Given the description of an element on the screen output the (x, y) to click on. 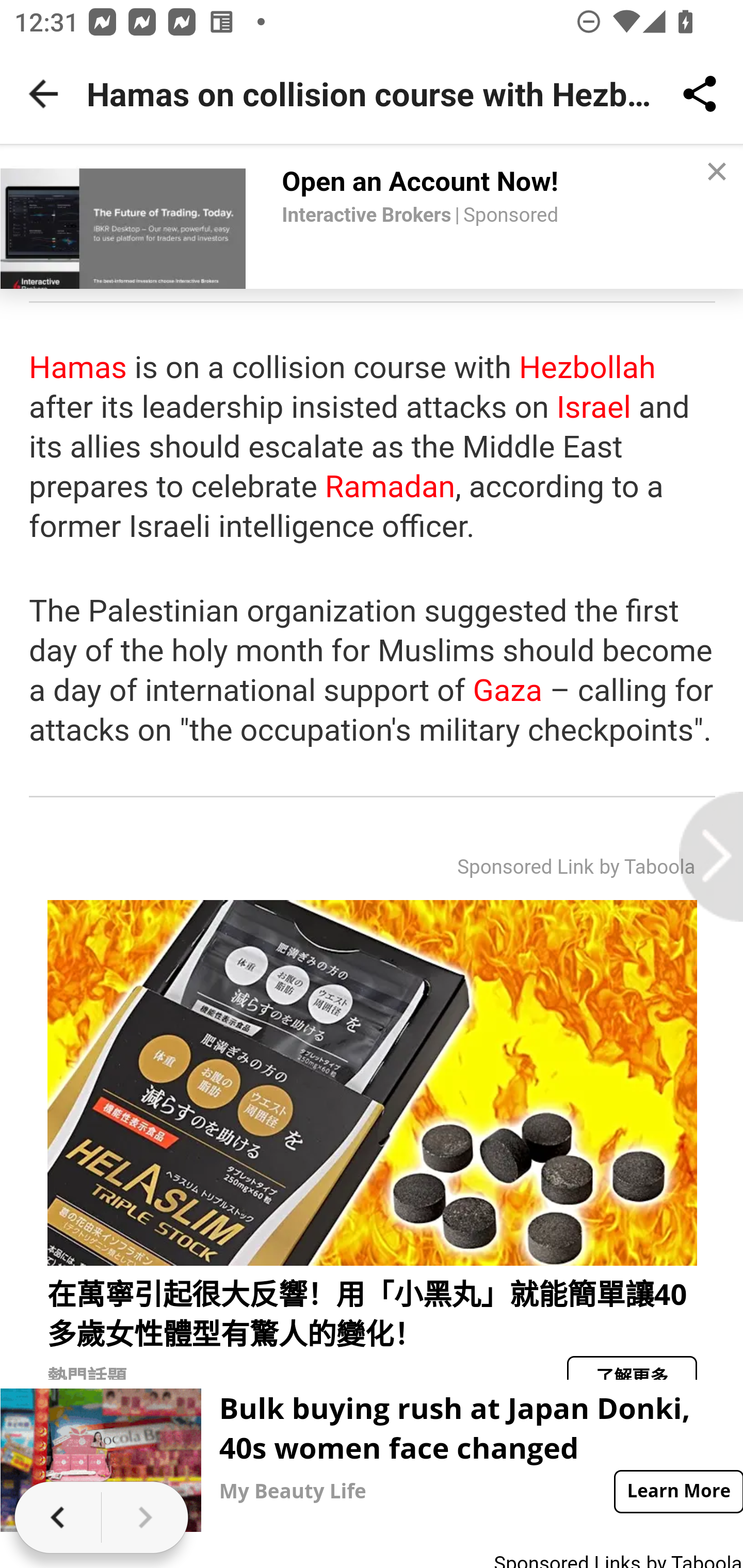
Sponsored (510, 215)
Hamas (77, 368)
Hezbollah (587, 368)
Israel (594, 409)
Ramadan (389, 487)
Gaza (507, 691)
Sponsored Link (524, 865)
by Taboola (646, 865)
Learn More (677, 1491)
Learn More (677, 1491)
